Given the description of an element on the screen output the (x, y) to click on. 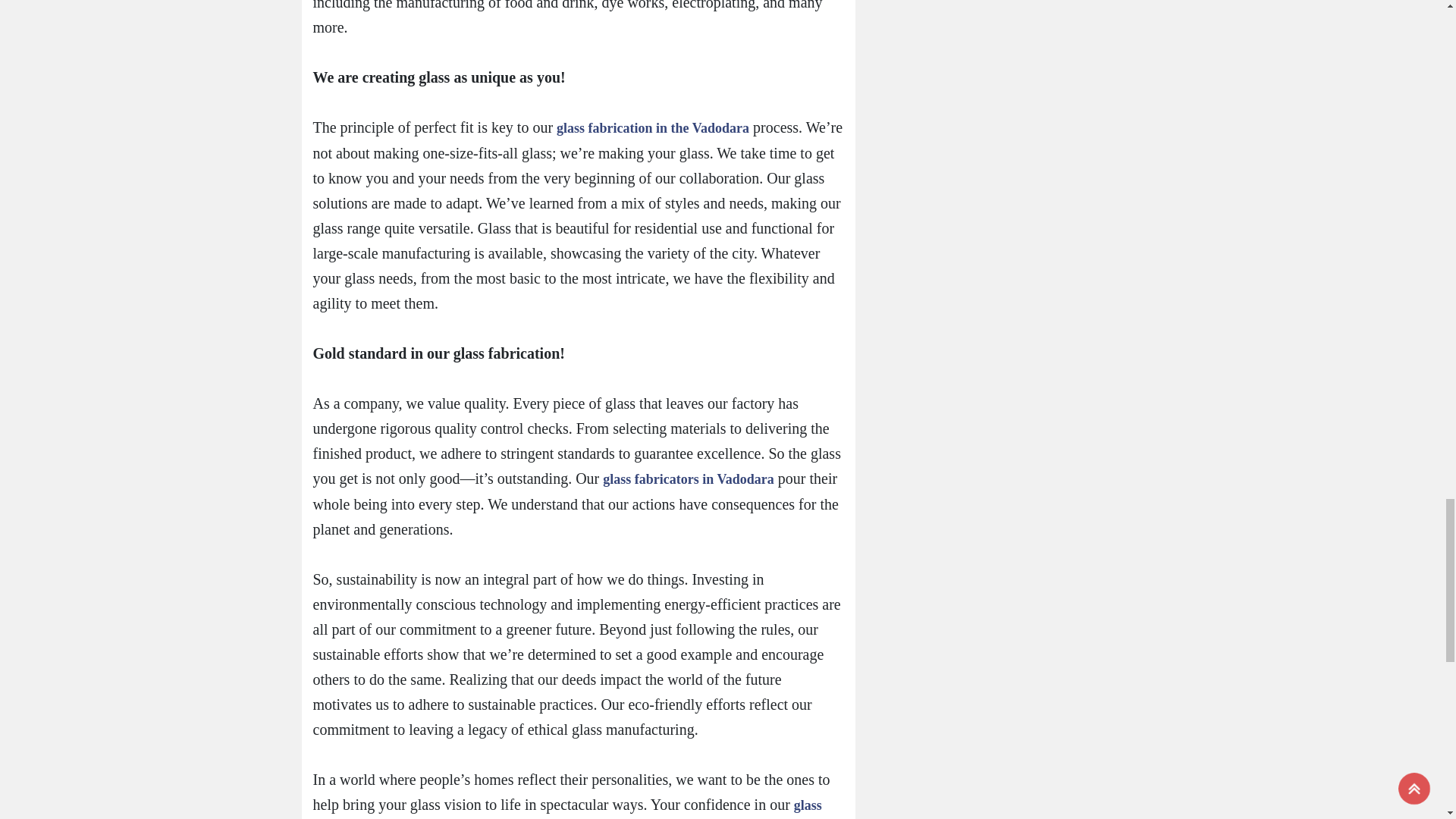
glass fabricators in Vadodara (688, 478)
glass fabrication in Vadodara (567, 808)
glass fabrication in the Vadodara (652, 127)
